Given the description of an element on the screen output the (x, y) to click on. 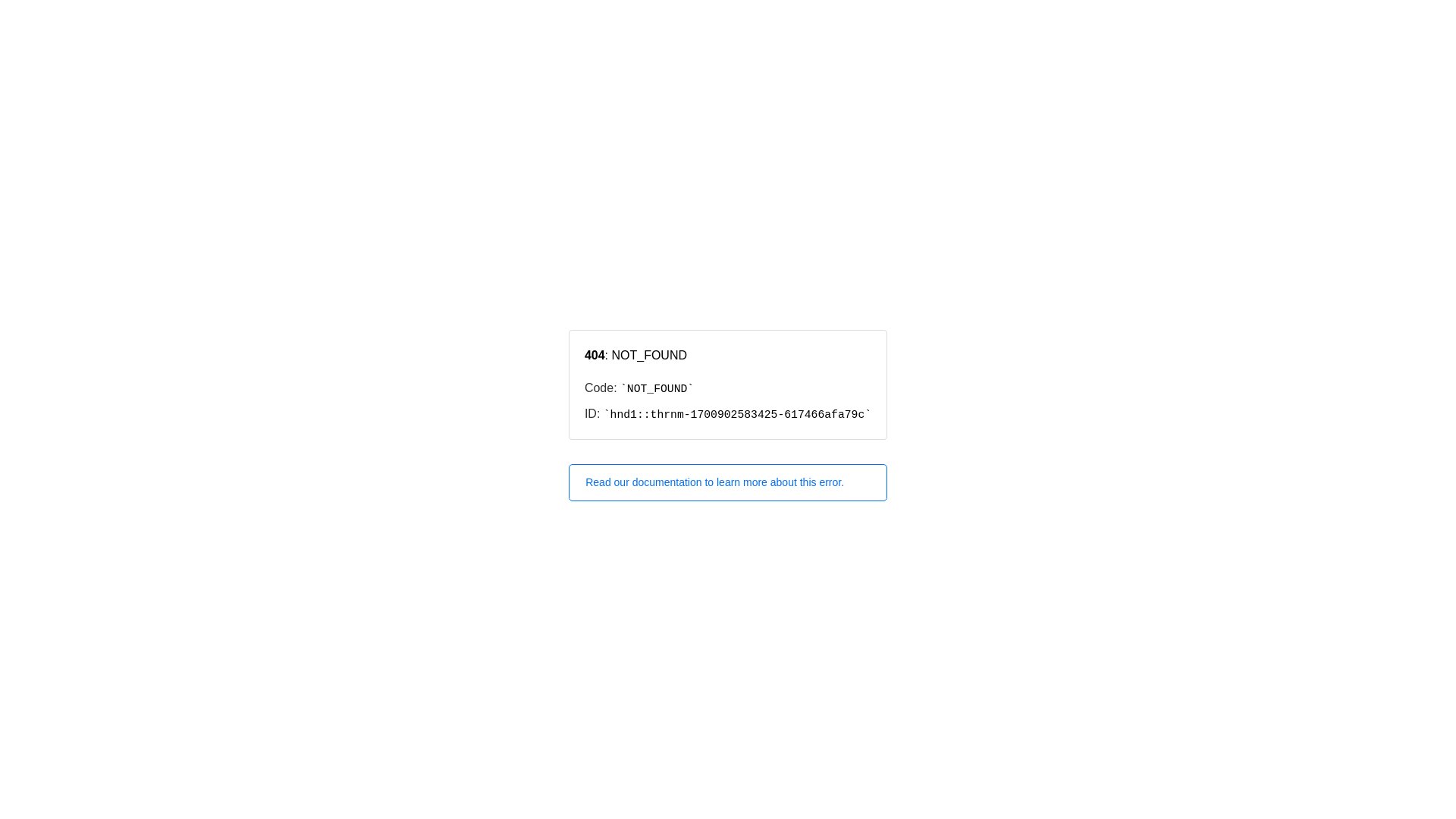
Read our documentation to learn more about this error. Element type: text (727, 482)
